Given the description of an element on the screen output the (x, y) to click on. 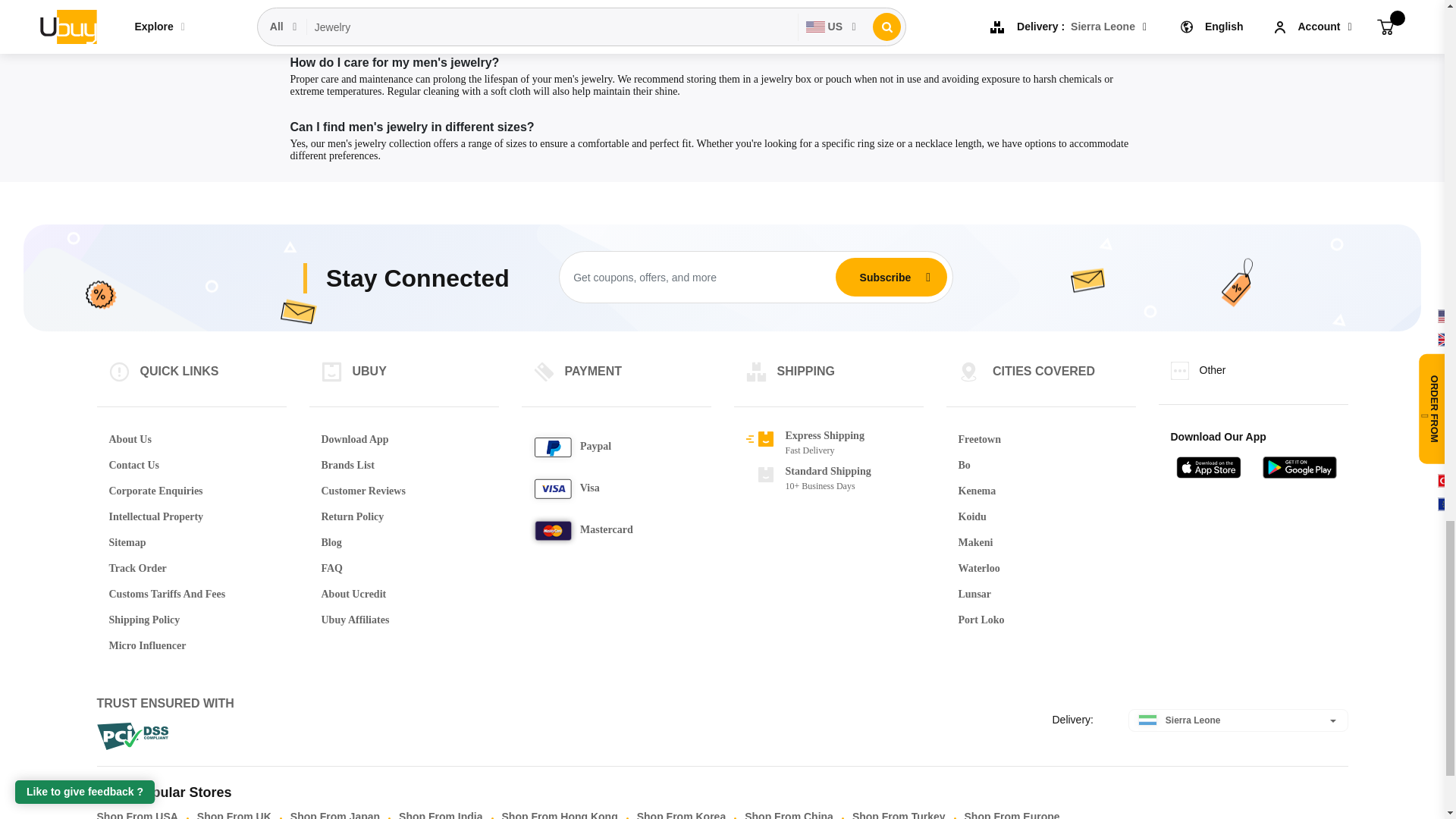
Subscribe (885, 277)
